Given the description of an element on the screen output the (x, y) to click on. 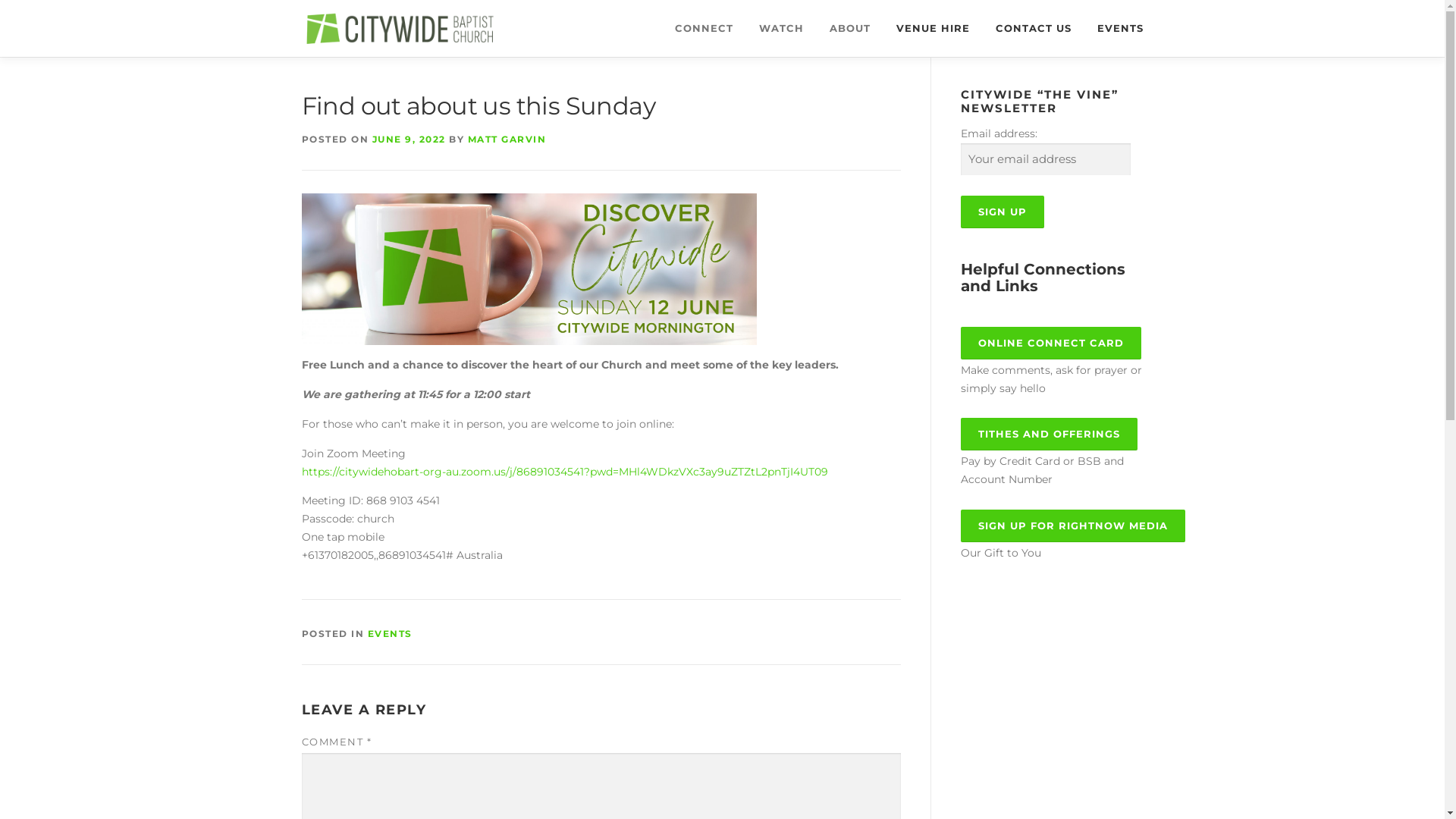
ABOUT Element type: text (848, 28)
EVENTS Element type: text (389, 633)
ONLINE CONNECT CARD Element type: text (1050, 342)
Sign up for RightNow Media Element type: text (1072, 525)
EVENTS Element type: text (1113, 28)
JUNE 9, 2022 Element type: text (408, 138)
VENUE HIRE Element type: text (932, 28)
CONNECT Element type: text (703, 28)
WATCH Element type: text (781, 28)
MATT GARVIN Element type: text (506, 138)
CONTACT US Element type: text (1033, 28)
Sign up Element type: text (1001, 211)
Tithes and Offerings Element type: text (1048, 433)
